Given the description of an element on the screen output the (x, y) to click on. 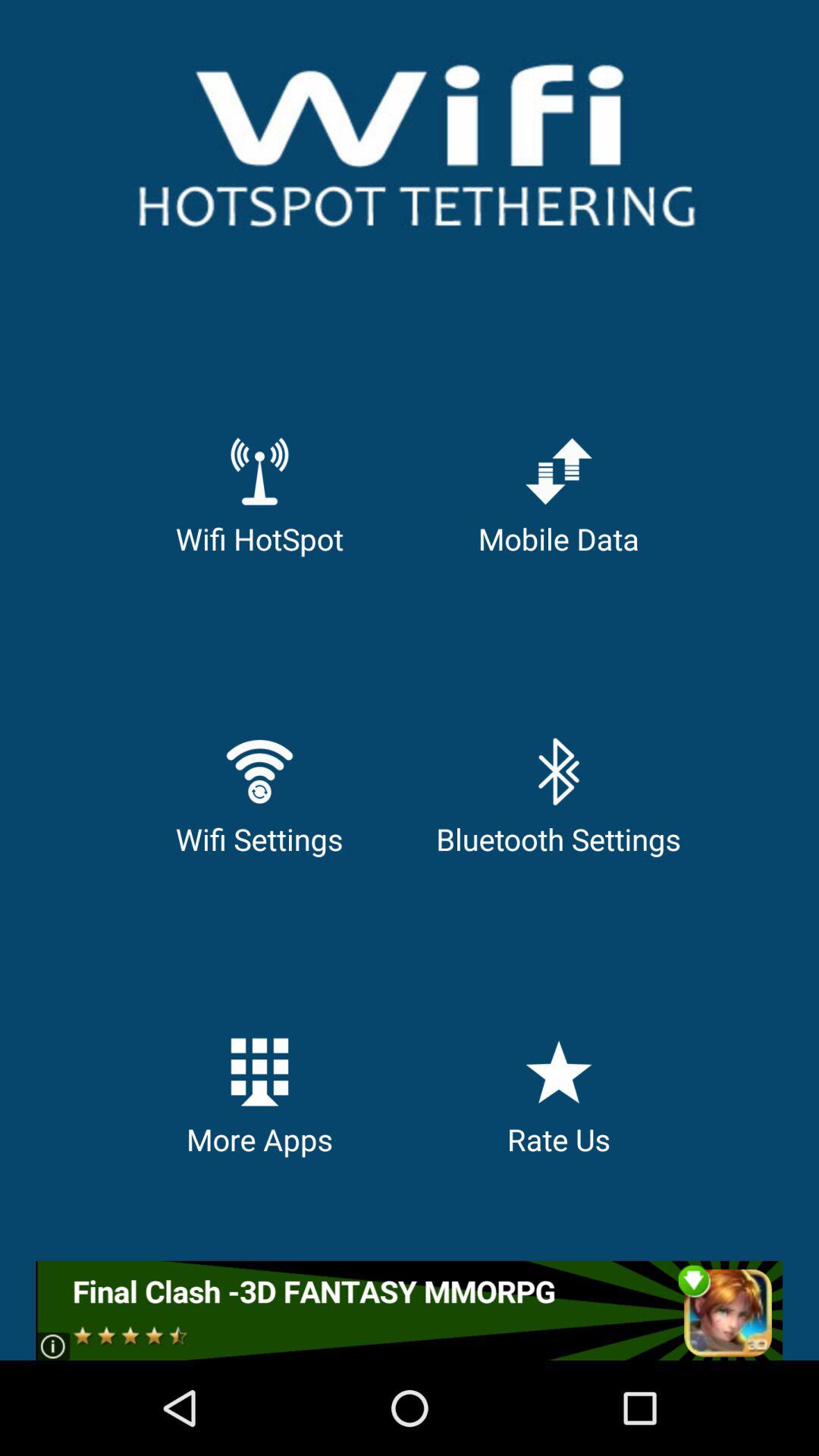
go to final clash (408, 1310)
